Given the description of an element on the screen output the (x, y) to click on. 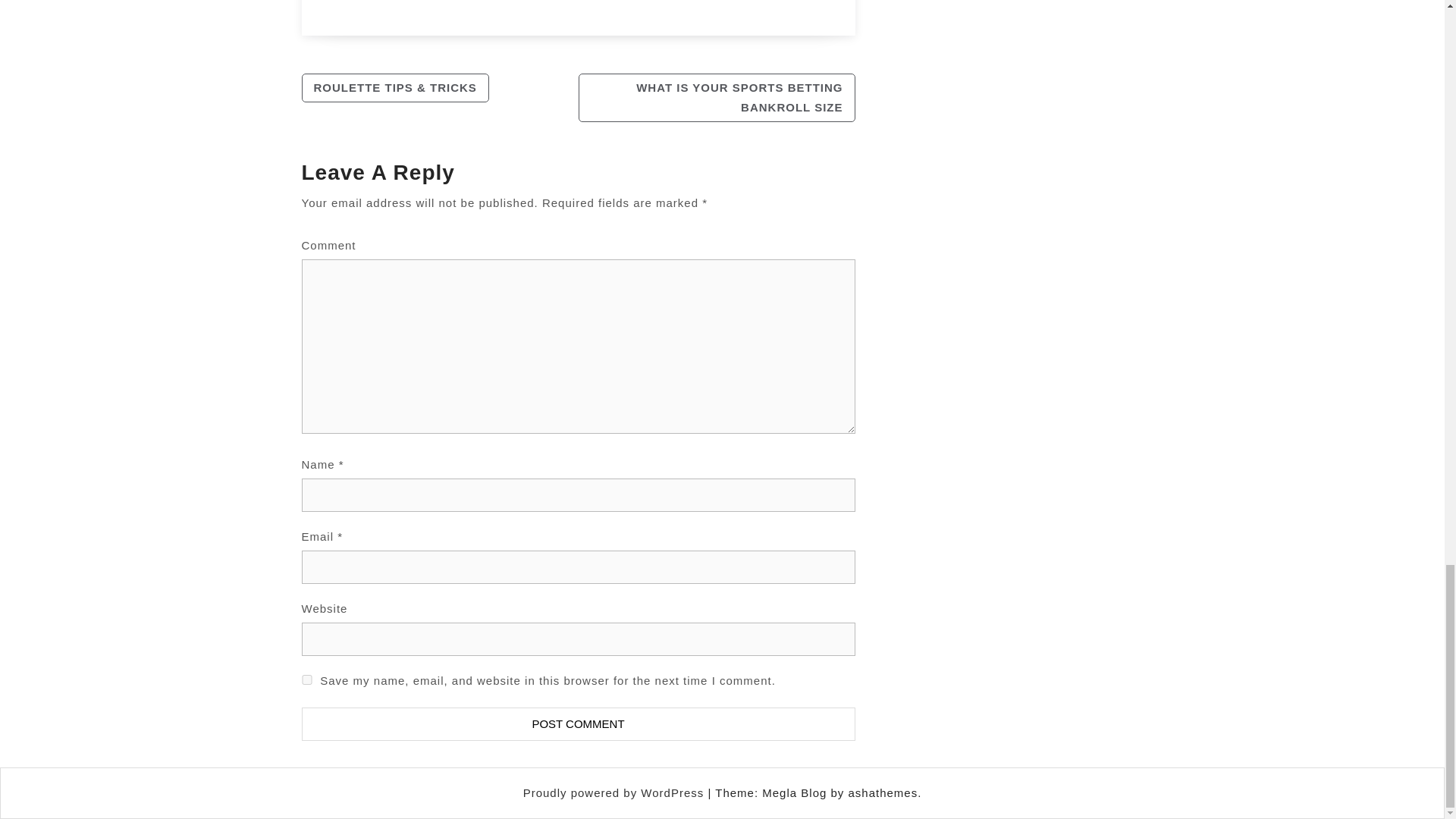
Post Comment (578, 724)
Proudly powered by WordPress (614, 792)
yes (307, 679)
WHAT IS YOUR SPORTS BETTING BANKROLL SIZE (716, 97)
Post Comment (578, 724)
